Given the description of an element on the screen output the (x, y) to click on. 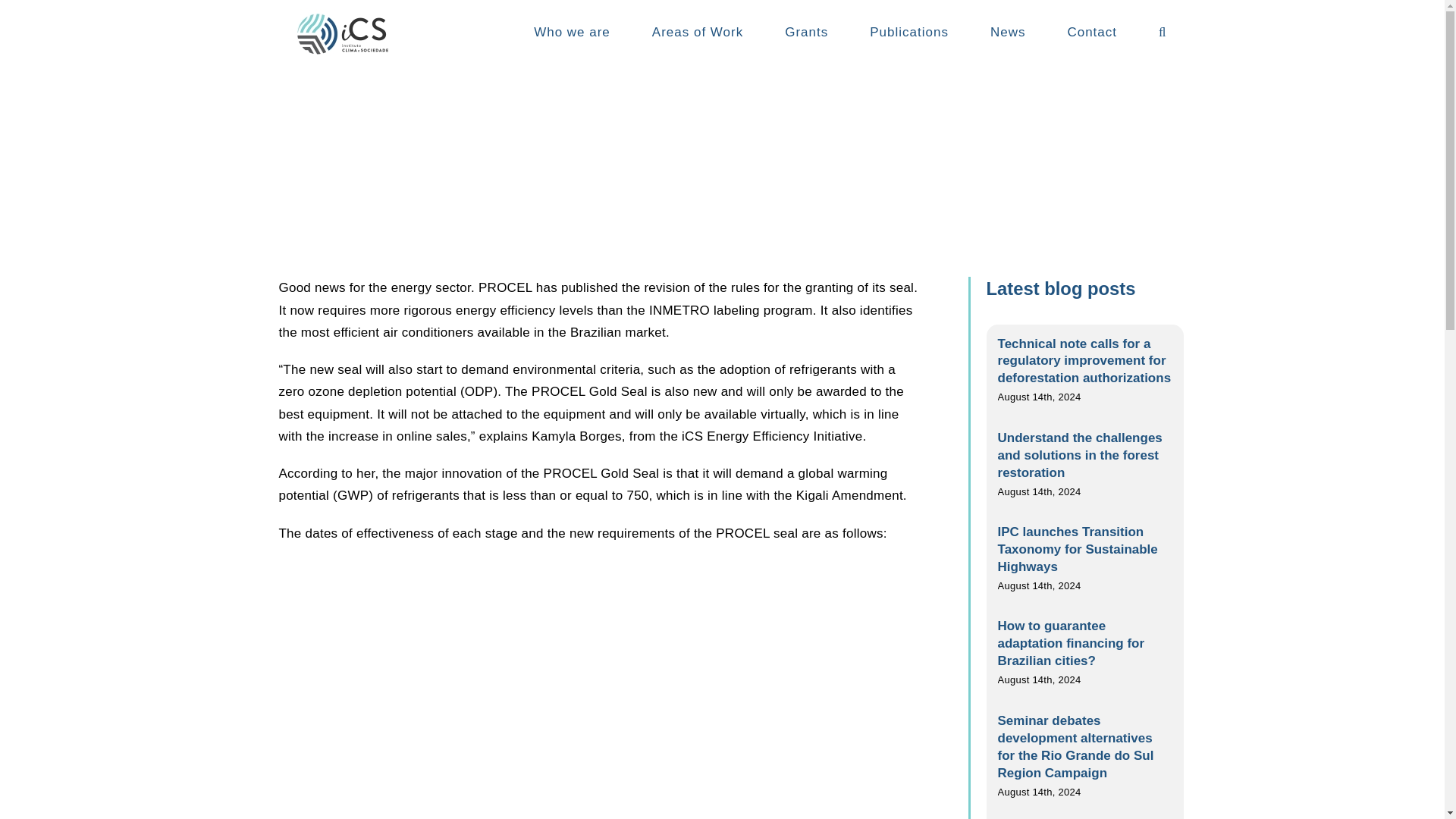
Areas of Work (697, 32)
Publications (909, 32)
Who we are (572, 32)
